Given the description of an element on the screen output the (x, y) to click on. 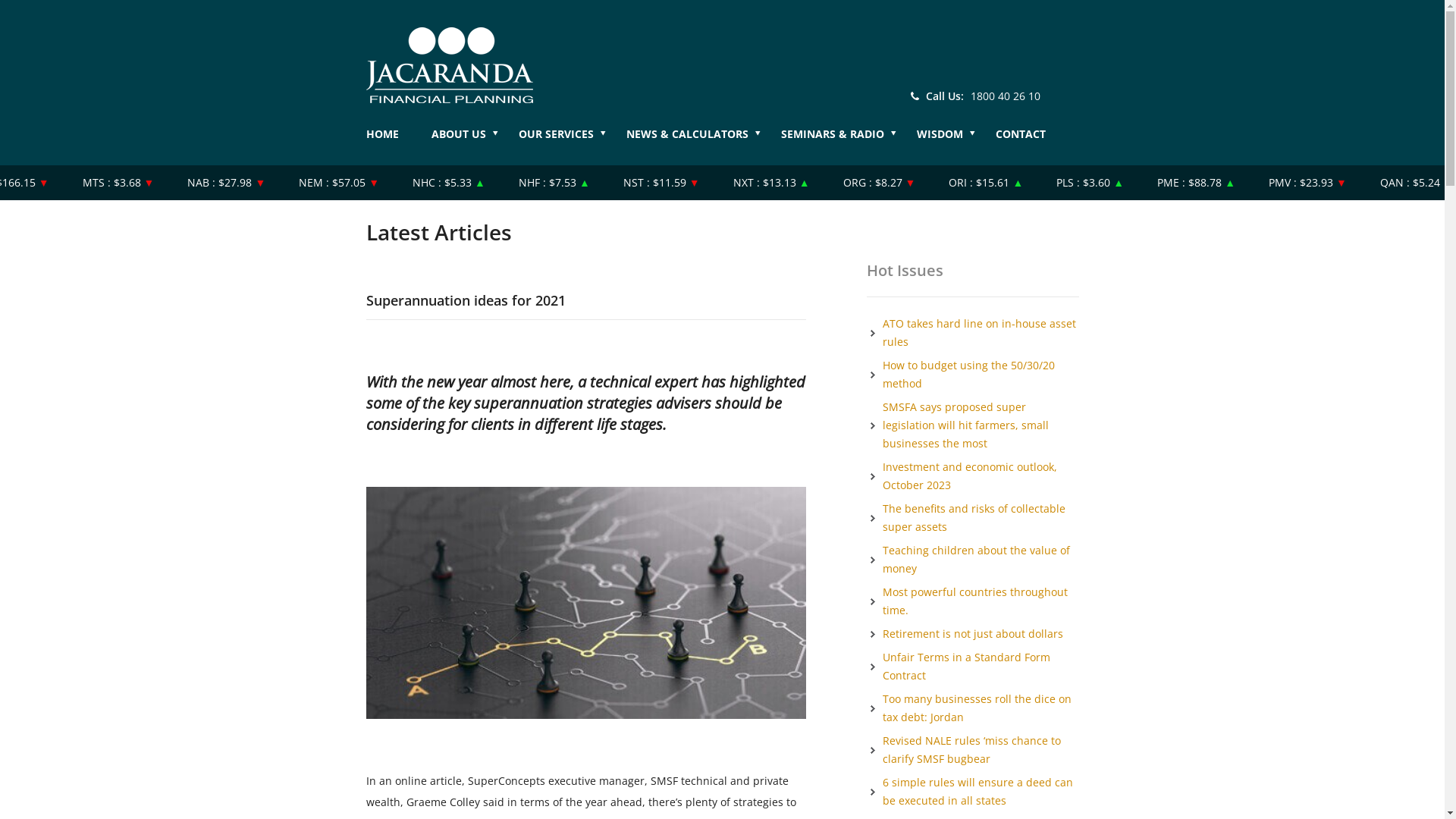
Retirement is not just about dollars Element type: text (972, 633)
Most powerful countries throughout time. Element type: text (974, 600)
ABOUT US Element type: text (472, 140)
OUR SERVICES Element type: text (570, 140)
Investment and economic outlook, October 2023 Element type: text (969, 475)
The benefits and risks of collectable super assets Element type: text (973, 517)
ATO takes hard line on in-house asset rules Element type: text (979, 332)
Unfair Terms in a Standard Form Contract Element type: text (966, 665)
SEMINARS & RADIO Element type: text (847, 140)
CONTACT Element type: text (1034, 140)
Too many businesses roll the dice on tax debt: Jordan Element type: text (976, 707)
1800 40 26 10 Element type: text (1005, 95)
NEWS & CALCULATORS Element type: text (702, 140)
How to budget using the 50/30/20 method Element type: text (968, 373)
WISDOM Element type: text (953, 140)
Teaching children about the value of money Element type: text (976, 558)
HOME Element type: text (396, 140)
